Given the description of an element on the screen output the (x, y) to click on. 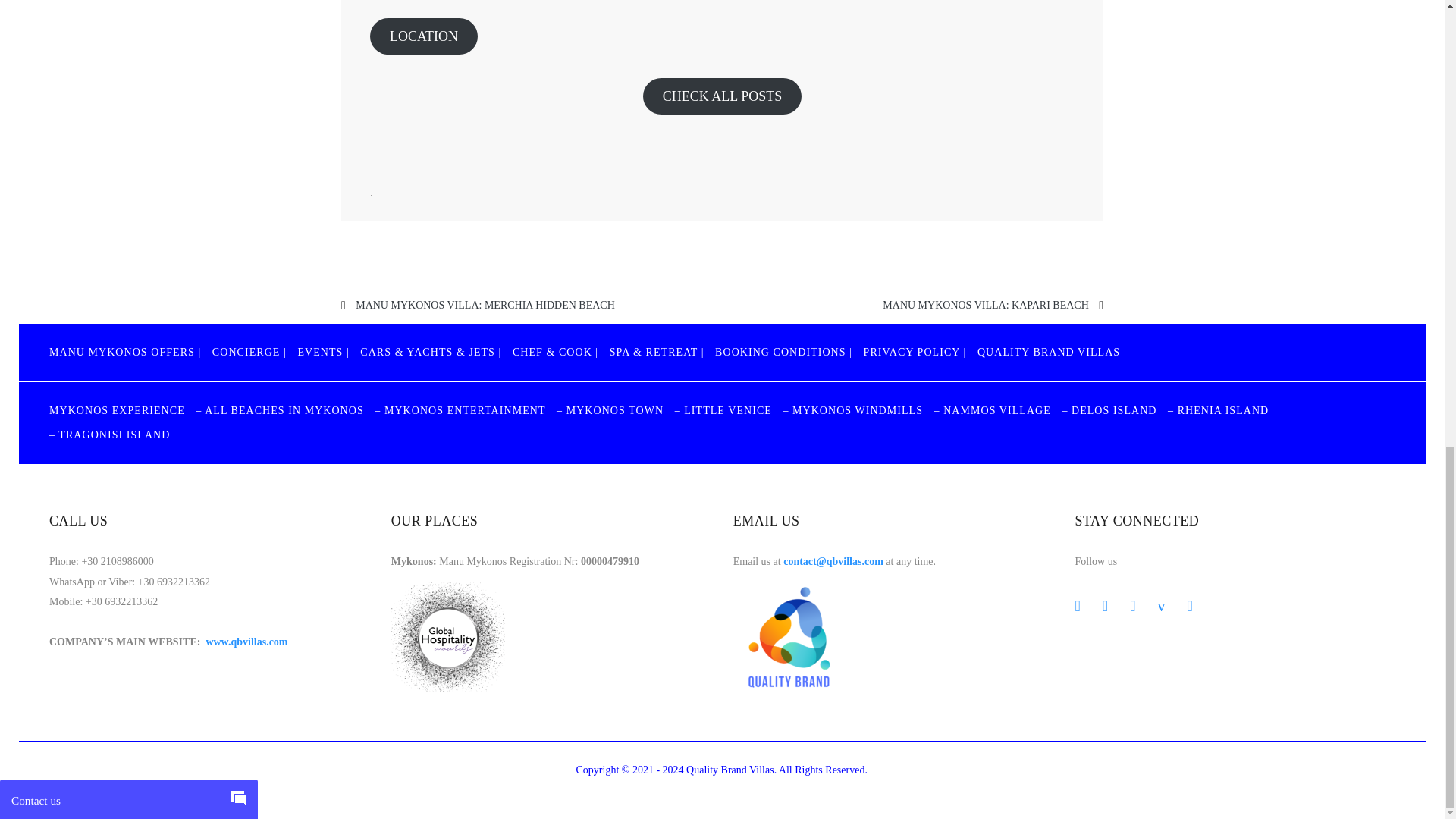
CHECK ALL POSTS (722, 95)
MANU MYKONOS VILLA: MERCHIA HIDDEN BEACH (484, 304)
MYKONOS EXPERIENCE (116, 410)
QUALITY BRAND VILLAS (1047, 351)
LOCATION (423, 36)
MANU MYKONOS VILLA: KAPARI BEACH (984, 304)
